Given the description of an element on the screen output the (x, y) to click on. 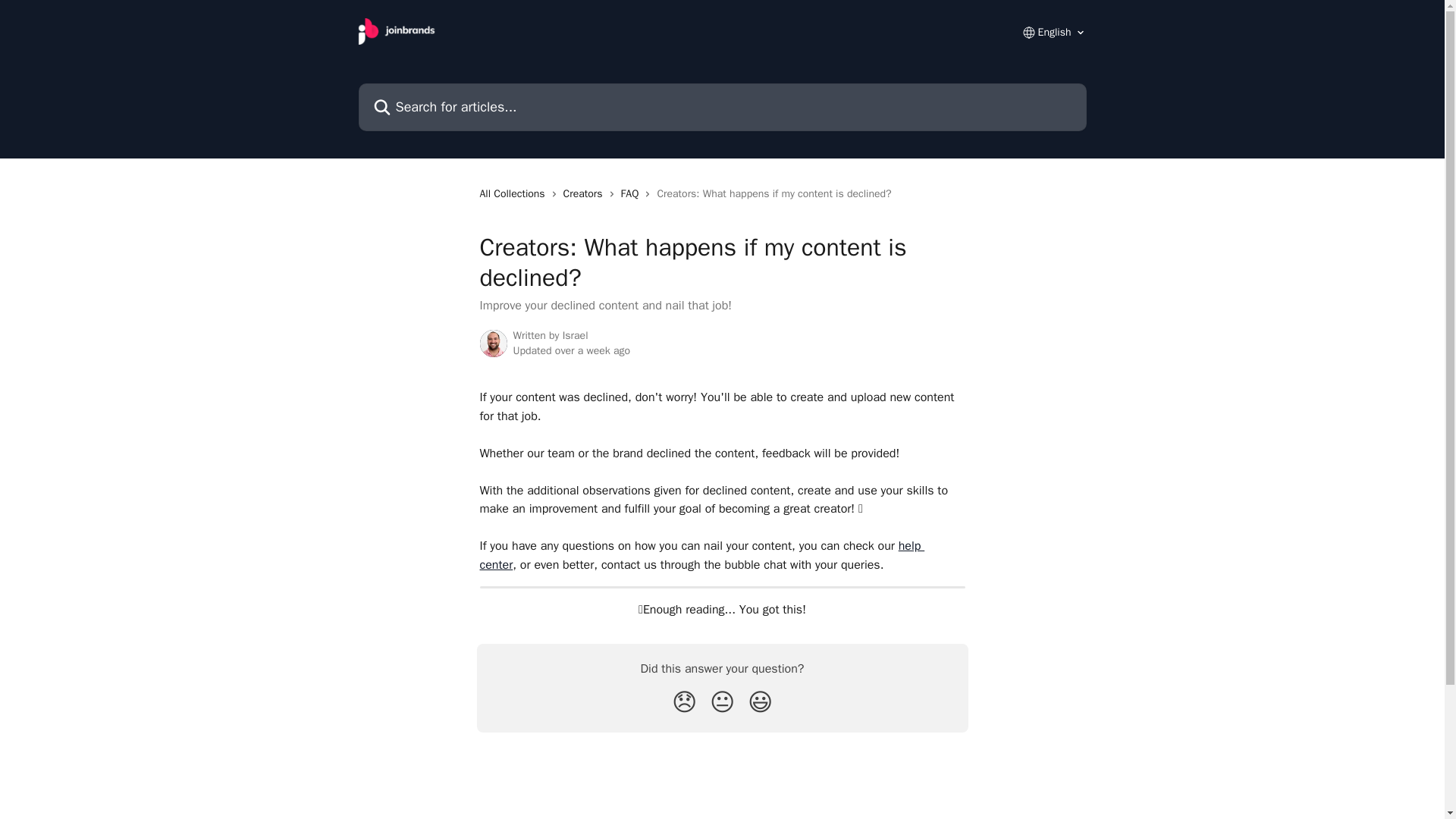
help center (701, 554)
FAQ (633, 193)
Creators (585, 193)
All Collections (514, 193)
